Given the description of an element on the screen output the (x, y) to click on. 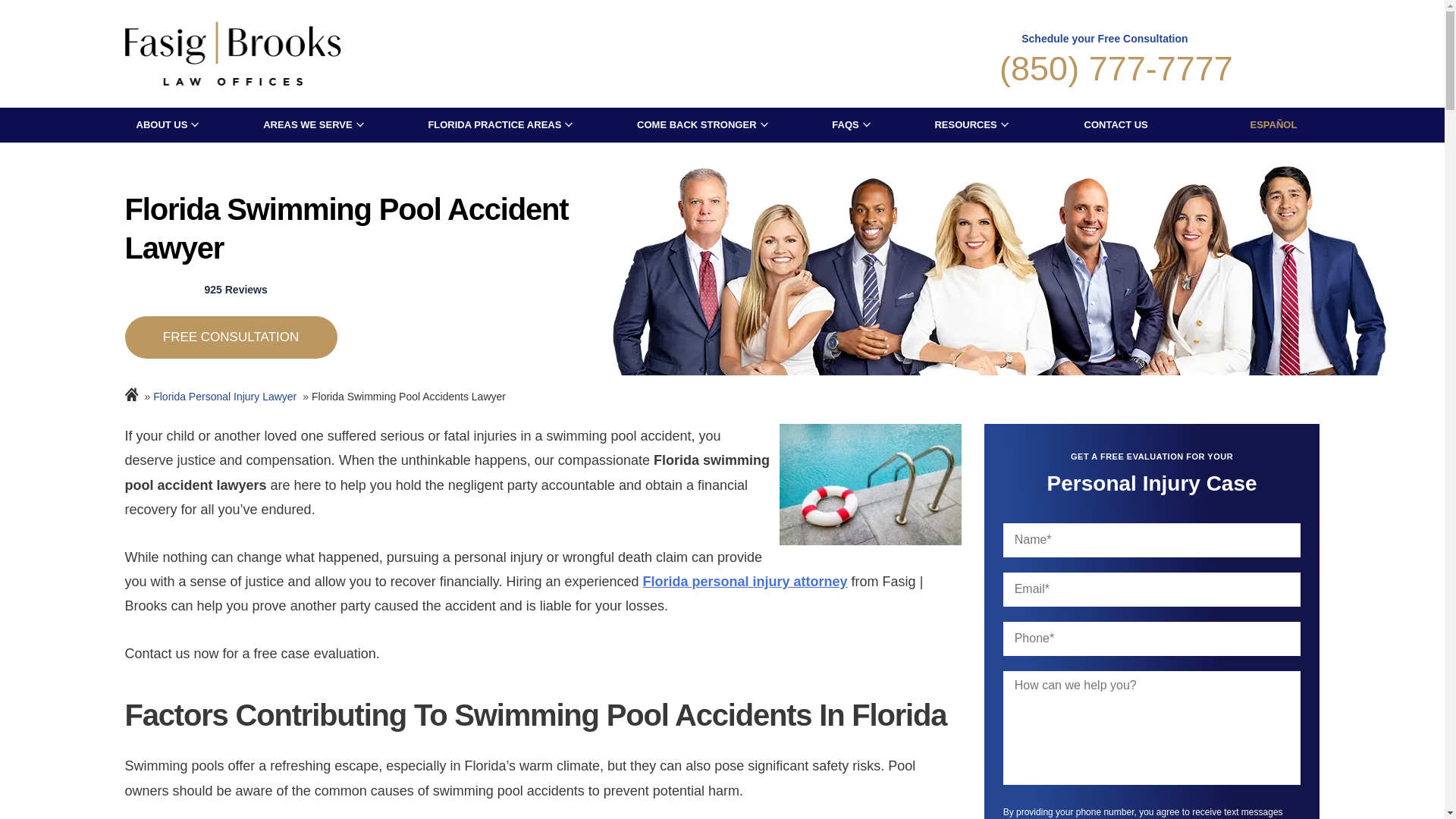
FLORIDA PRACTICE AREAS (494, 124)
Blog (229, 337)
AREAS WE SERVE (307, 124)
ABOUT US (161, 124)
Schedule your Free Consultation (1104, 54)
